Given the description of an element on the screen output the (x, y) to click on. 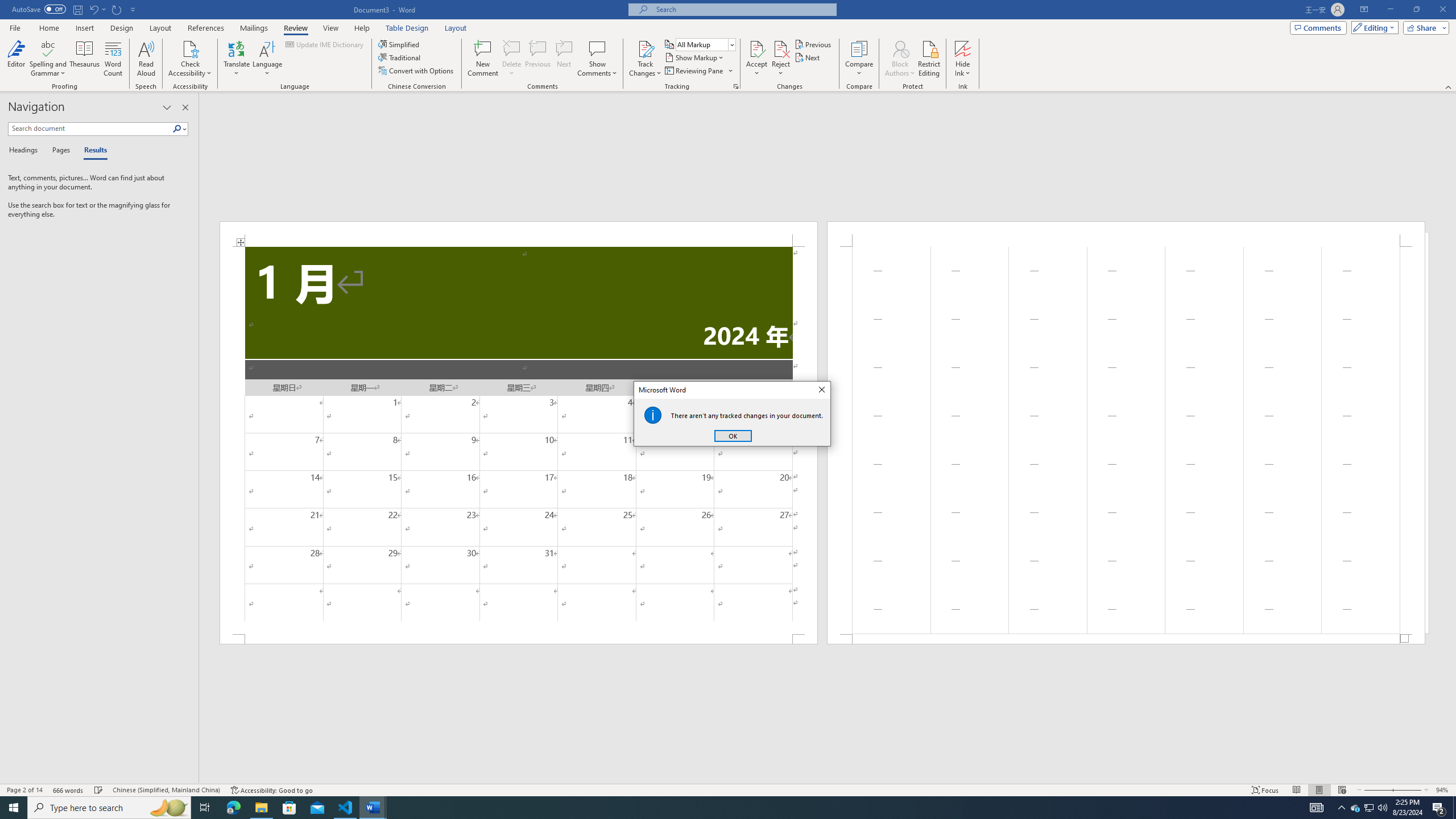
Thesaurus... (84, 58)
Update IME Dictionary... (324, 44)
Restrict Editing (929, 58)
Spelling and Grammar (48, 58)
Show Comments (597, 48)
Word - 2 running windows (373, 807)
Microsoft Edge (233, 807)
